Given the description of an element on the screen output the (x, y) to click on. 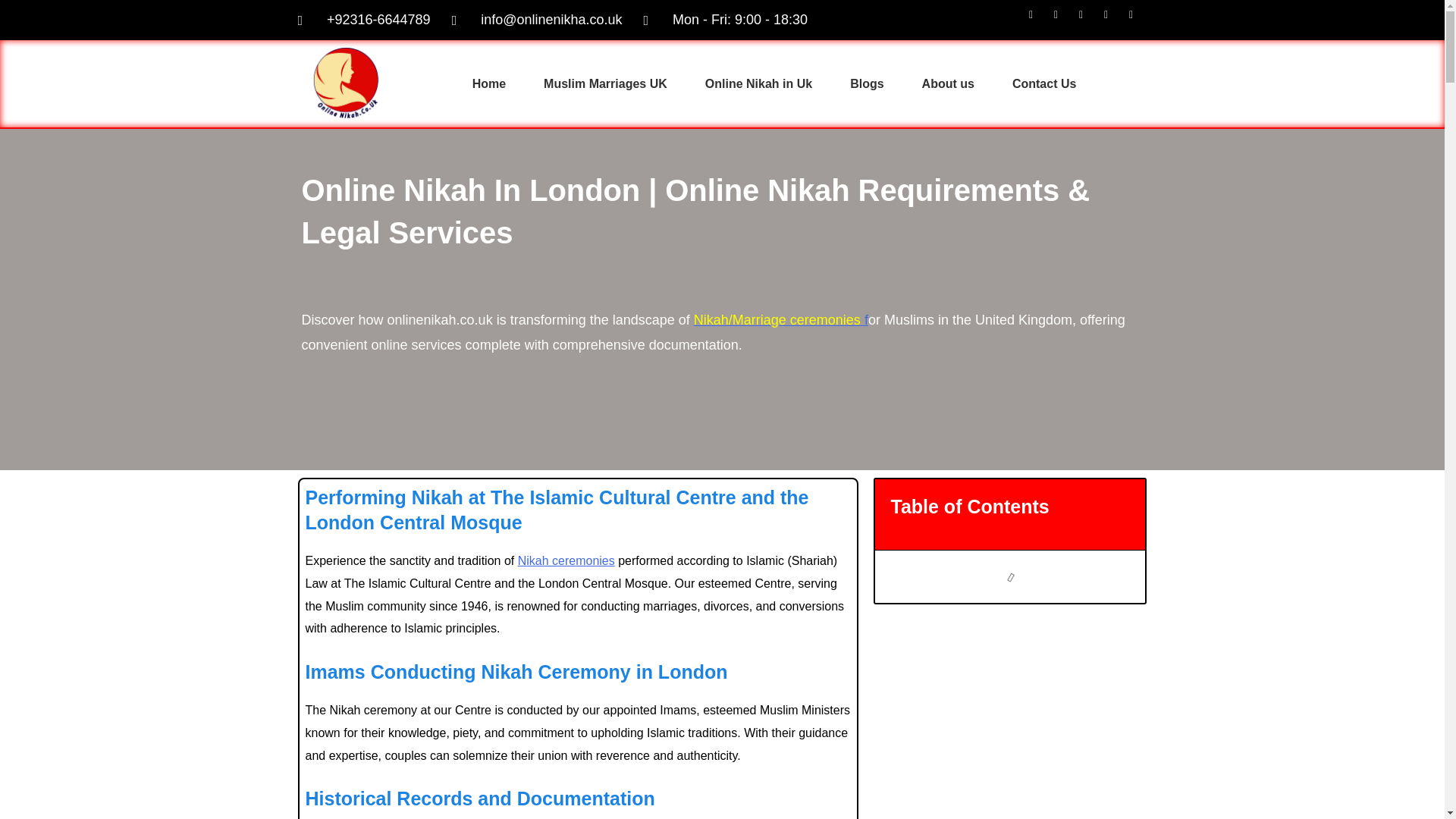
Home (488, 84)
About us (947, 84)
Contact Us (1043, 84)
Nikah ceremonies (566, 560)
Muslim Marriages UK (604, 84)
Google-plus-g (1085, 20)
Youtube (1136, 20)
Blogs (866, 84)
Instagram (1111, 20)
Online Nikah in Uk (758, 84)
Facebook-f (1035, 20)
Twitter (1061, 20)
